Given the description of an element on the screen output the (x, y) to click on. 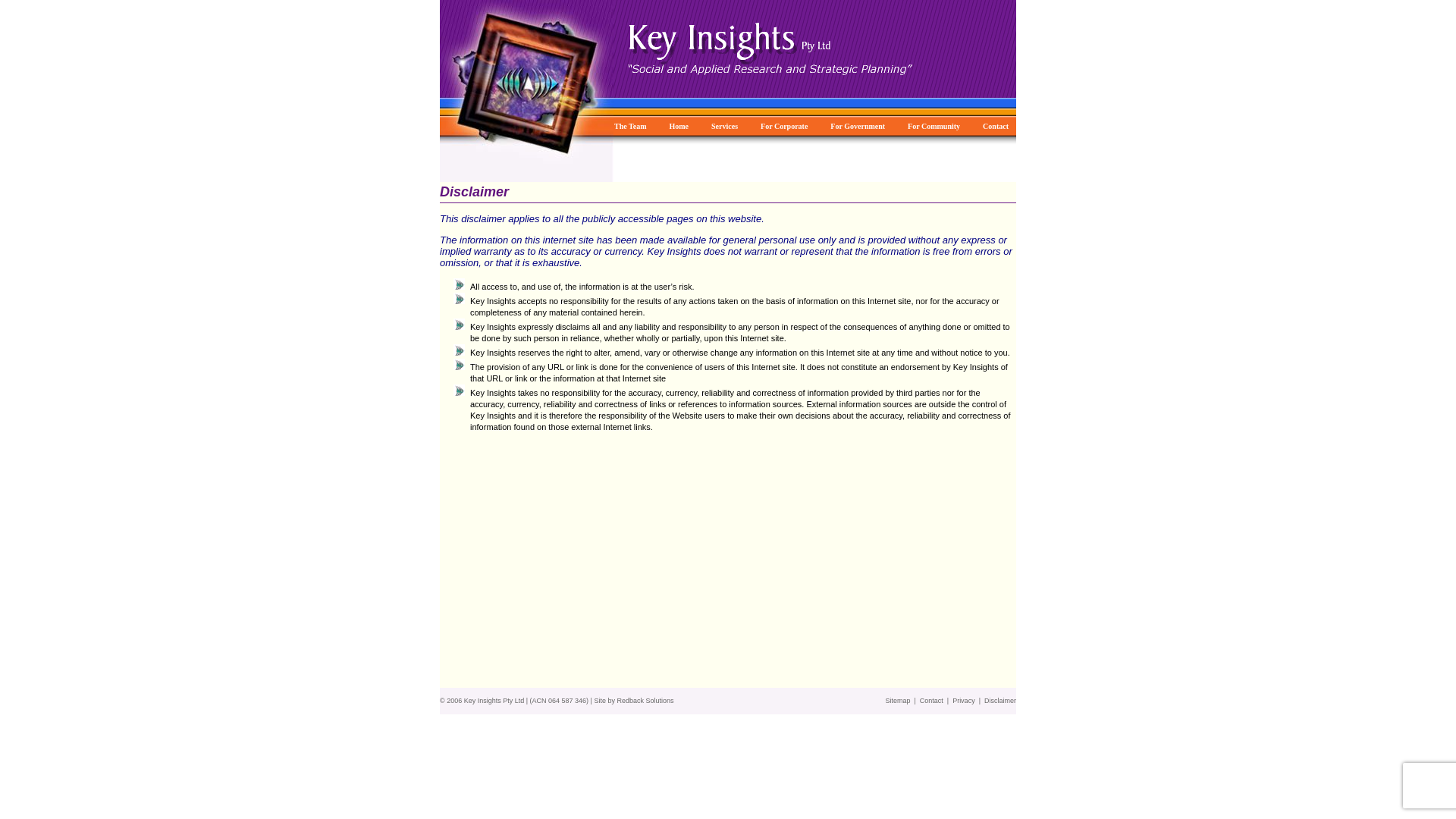
Site by Redback Solutions Element type: text (633, 700)
For Government Element type: text (856, 124)
Services Element type: text (723, 124)
Contact Element type: text (995, 124)
Contact Element type: text (931, 700)
Sitemap Element type: text (897, 700)
Home Element type: text (678, 124)
Privacy Element type: text (963, 700)
For Corporate Element type: text (783, 124)
For Community Element type: text (933, 124)
The Team Element type: text (629, 124)
Disclaimer Element type: text (1000, 700)
